Given the description of an element on the screen output the (x, y) to click on. 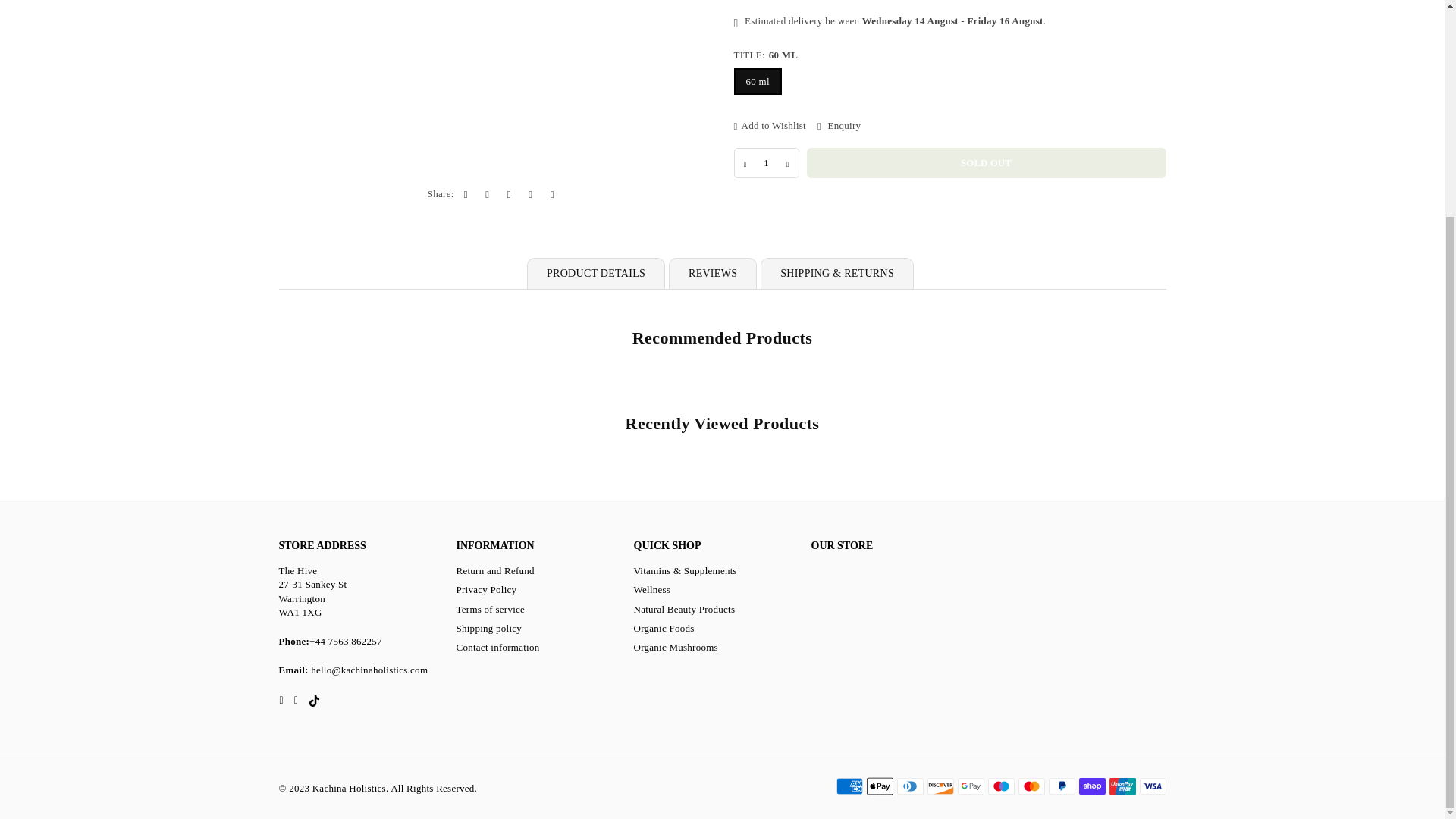
Diners Club (909, 786)
Apple Pay (879, 786)
Mastercard (1030, 786)
Discover (939, 786)
Shop Pay (1091, 786)
Google Pay (970, 786)
Quantity (766, 163)
PayPal (1061, 786)
Maestro (1000, 786)
American Express (848, 786)
